Given the description of an element on the screen output the (x, y) to click on. 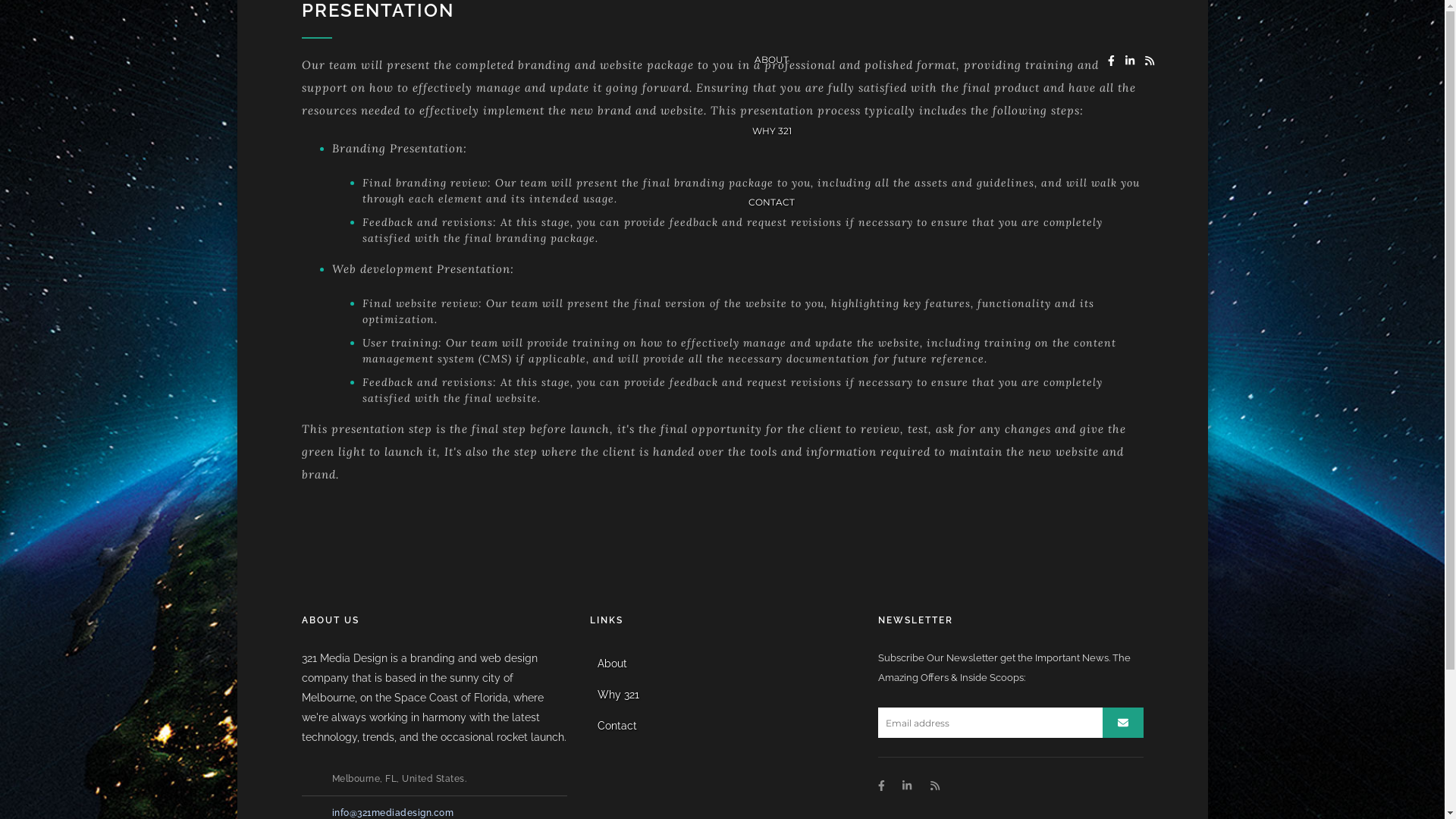
Facebook Element type: hover (881, 785)
Instagram Element type: hover (1129, 60)
CONTACT Element type: text (771, 200)
About Element type: text (722, 663)
Facebook Element type: hover (1110, 60)
Contact Element type: text (722, 725)
Instagram Element type: hover (906, 785)
RSS Element type: hover (1149, 60)
info@321mediadesign.com Element type: text (393, 812)
ABOUT Element type: text (771, 58)
WHY 321 Element type: text (771, 129)
Why 321 Element type: text (722, 694)
RSS Element type: hover (933, 785)
